Given the description of an element on the screen output the (x, y) to click on. 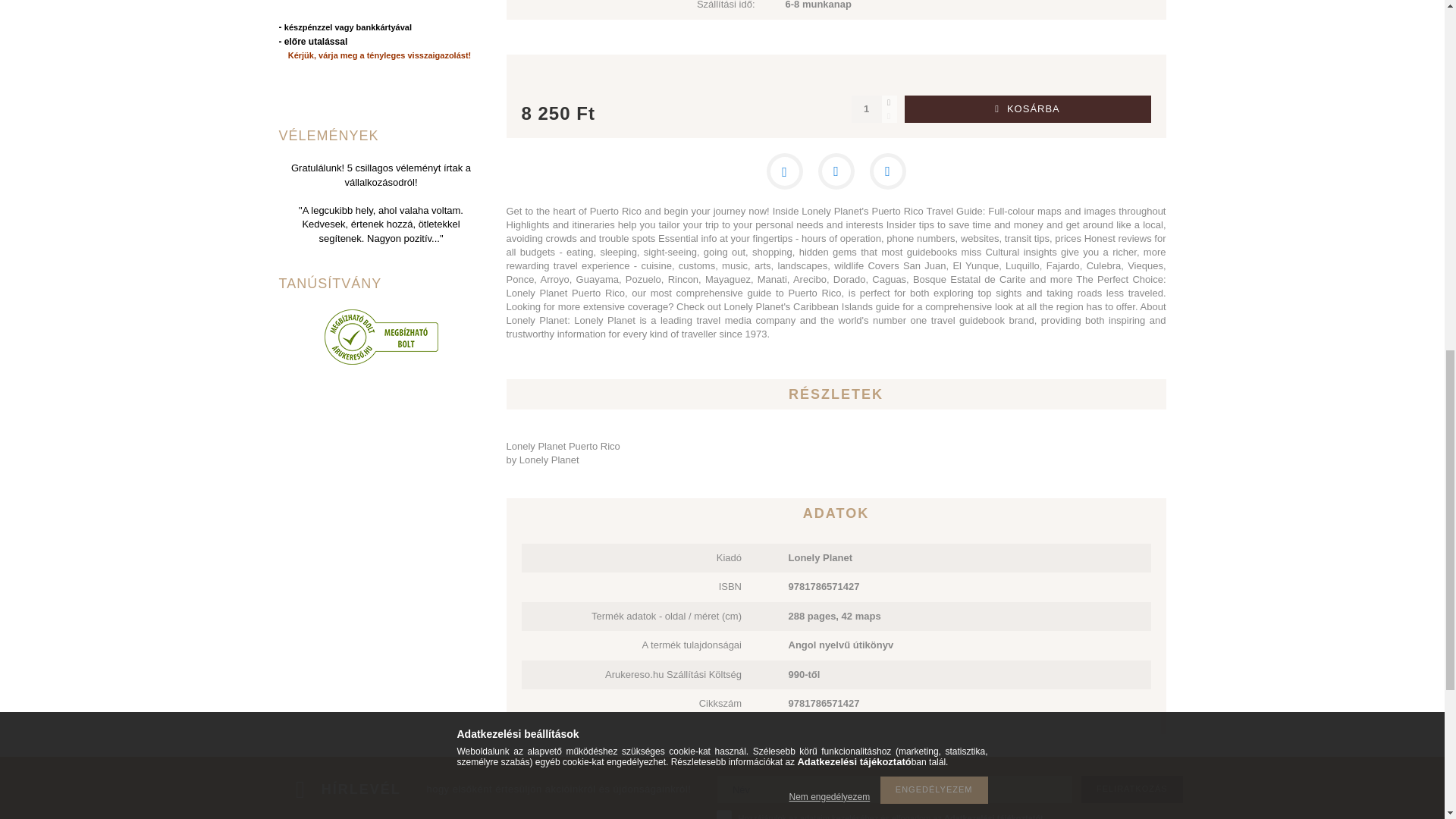
1 (723, 814)
Kedvencekhez (783, 171)
Nyomtat (887, 171)
1 (865, 108)
